Given the description of an element on the screen output the (x, y) to click on. 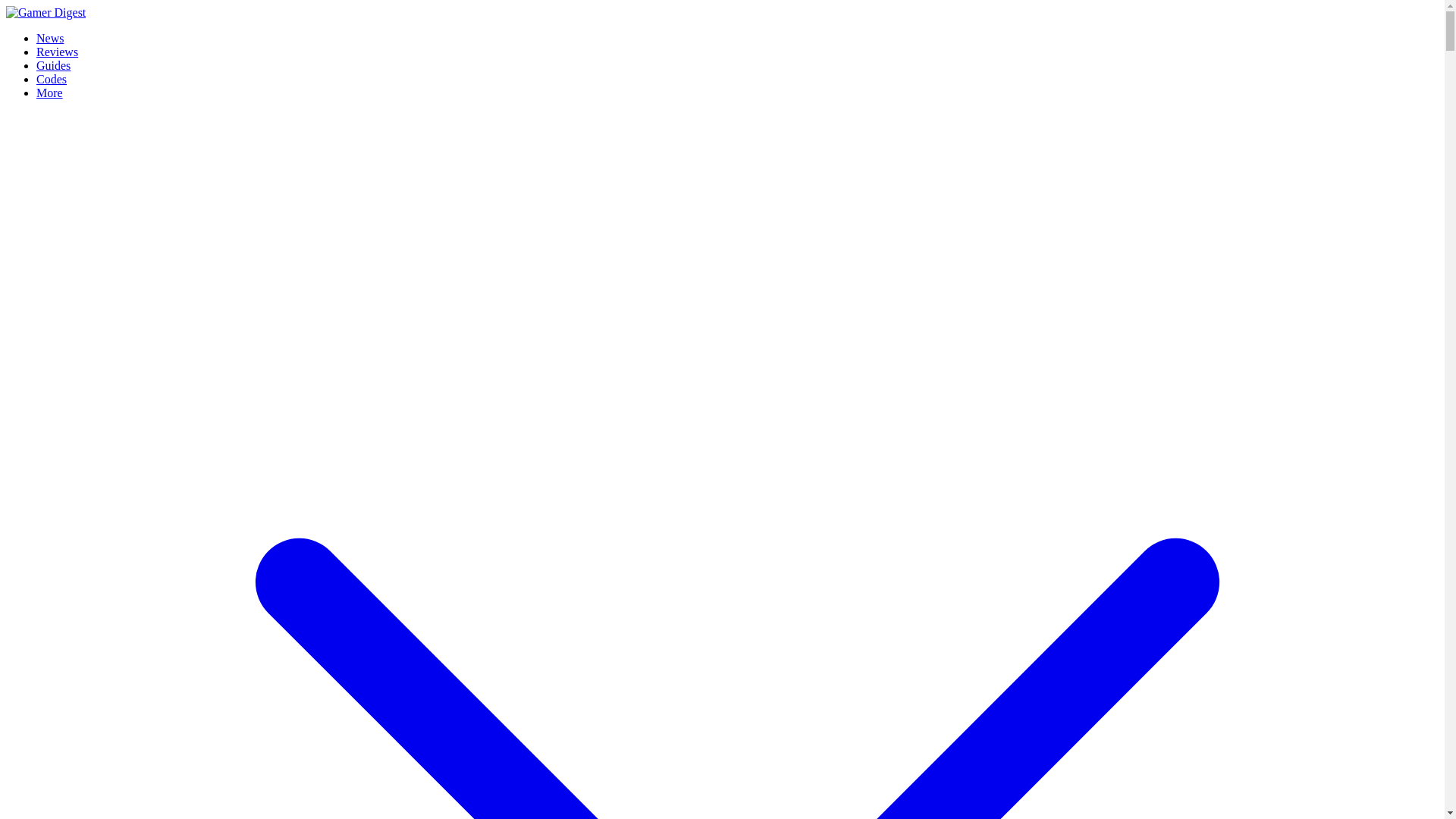
Codes (51, 78)
Guides (52, 65)
News (50, 38)
Reviews (57, 51)
